Given the description of an element on the screen output the (x, y) to click on. 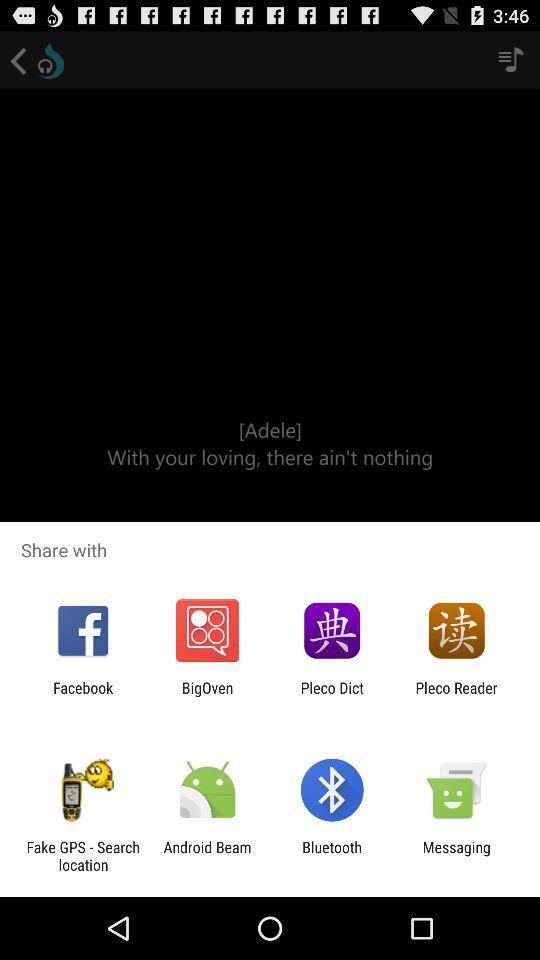
open the item to the right of the facebook app (207, 696)
